Given the description of an element on the screen output the (x, y) to click on. 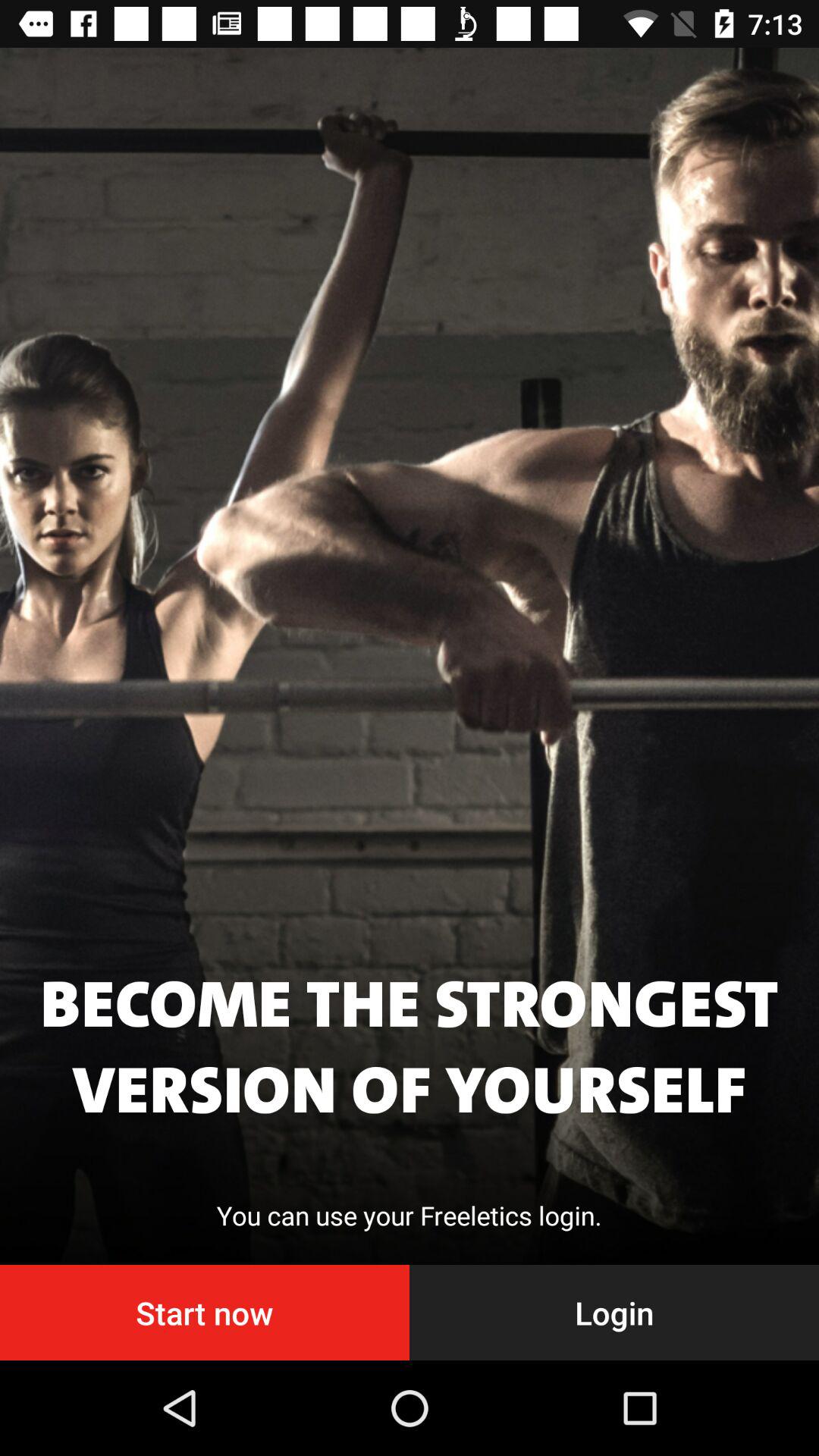
turn off the item next to login icon (204, 1312)
